Given the description of an element on the screen output the (x, y) to click on. 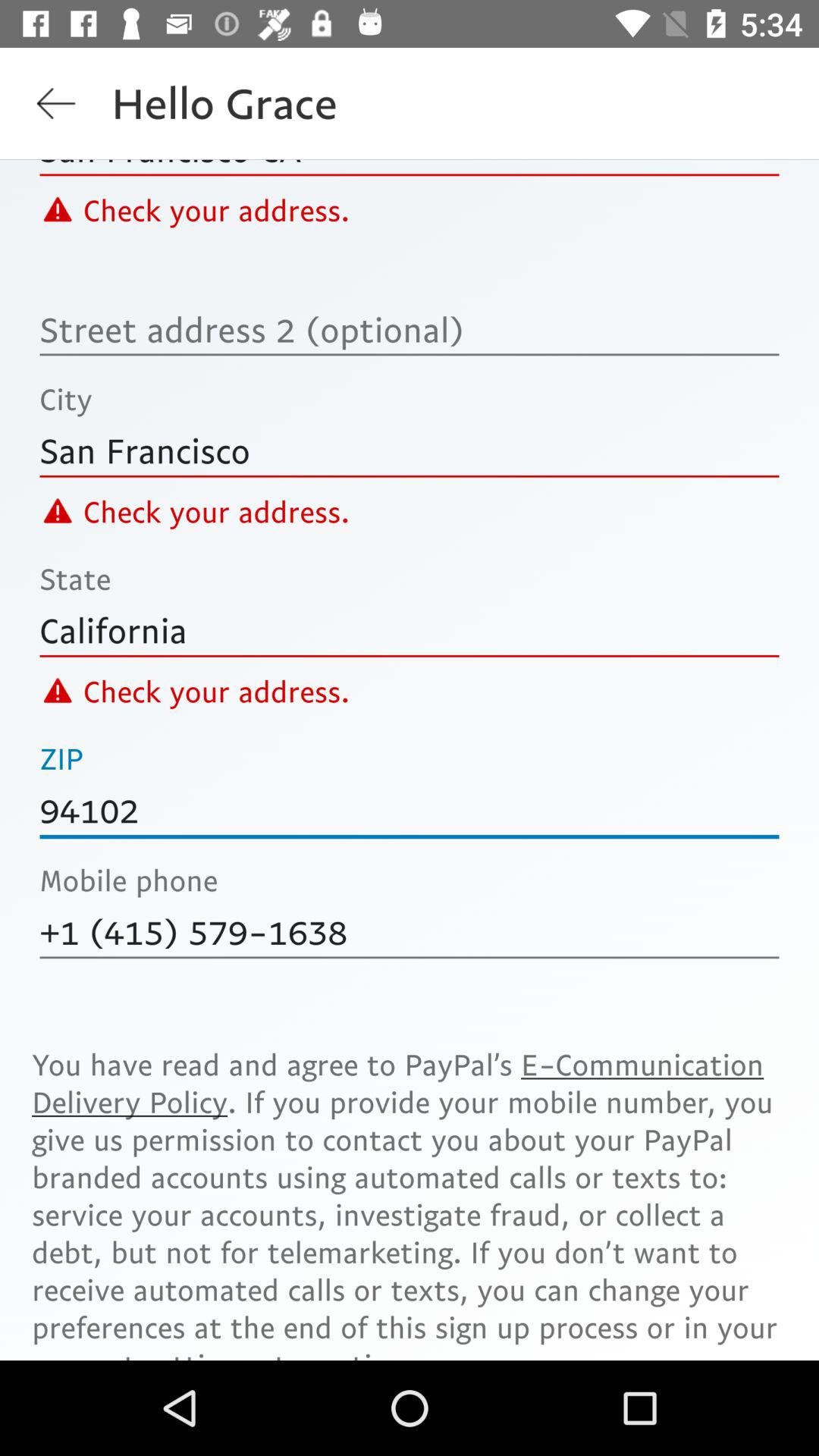
second address line input (409, 329)
